Given the description of an element on the screen output the (x, y) to click on. 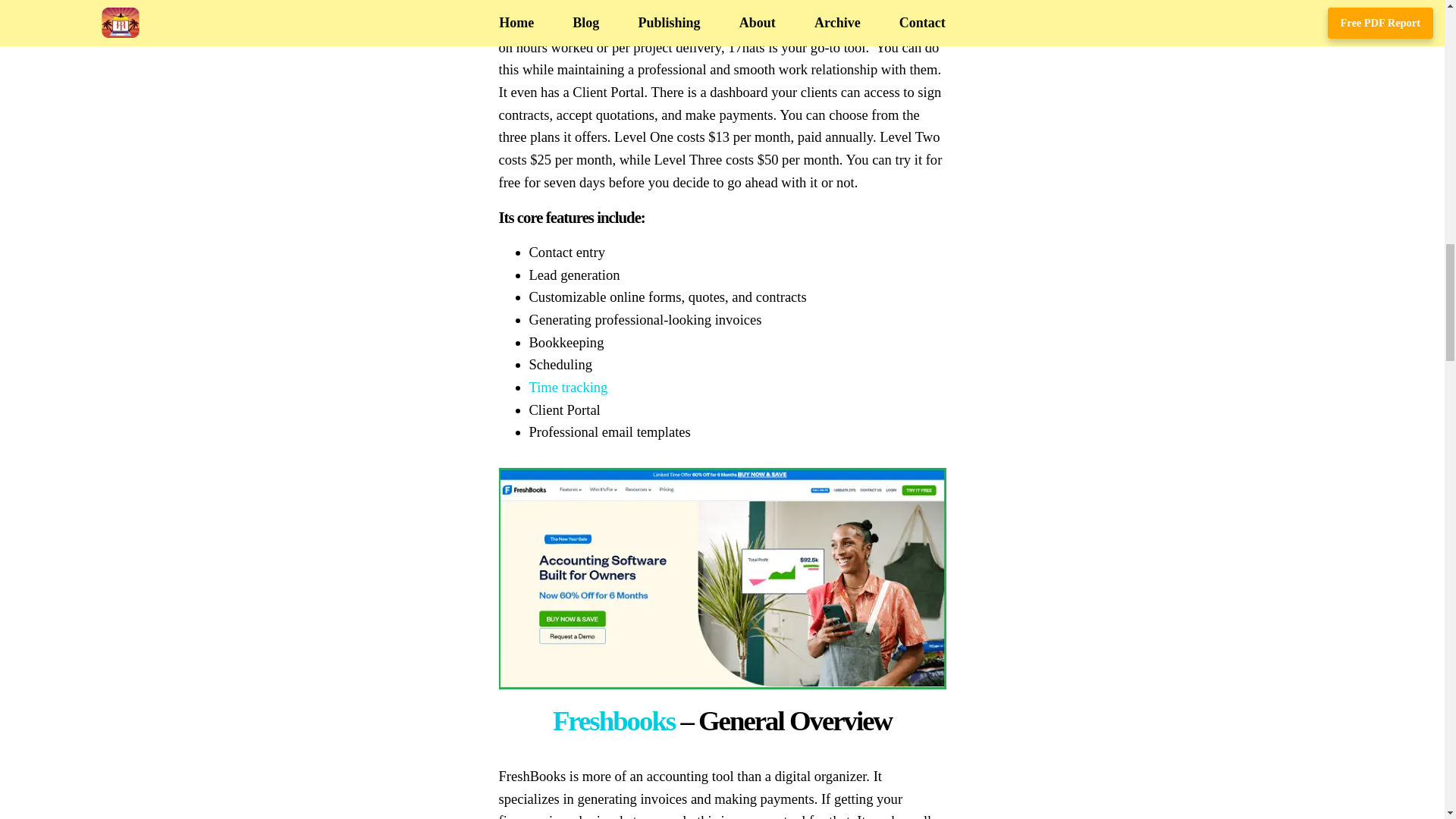
Time tracking (568, 386)
Freshbooks (614, 720)
